Given the description of an element on the screen output the (x, y) to click on. 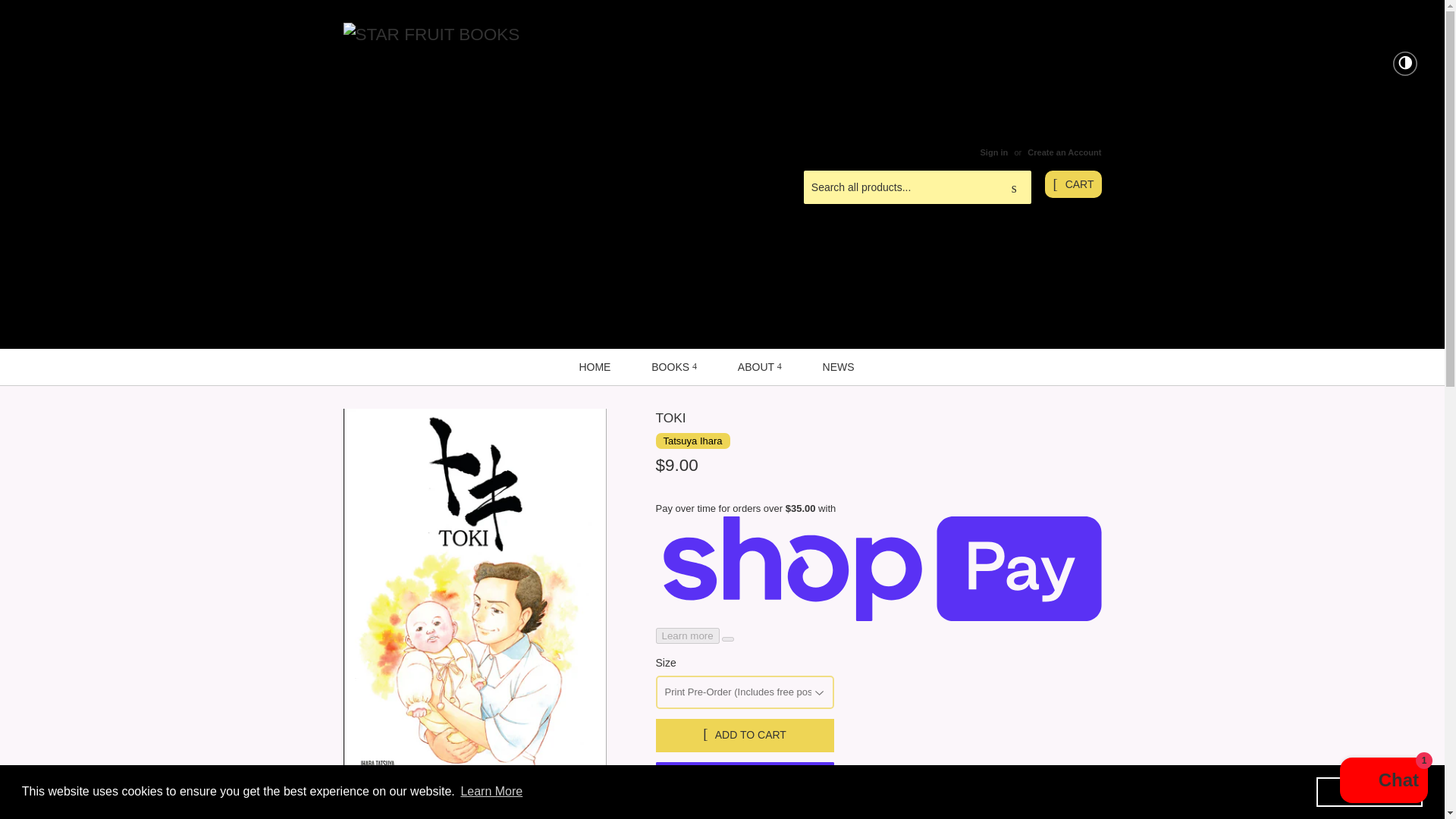
ABOUT (759, 366)
CART (1072, 184)
BOOKS (673, 366)
Create an Account (1063, 152)
NEWS (838, 366)
Sign in (993, 152)
HOME (593, 366)
Shopify online store chat (1383, 781)
Tatsuya Ihara (692, 440)
Learn More (491, 791)
Search (1013, 187)
Got it! (1369, 791)
